Given the description of an element on the screen output the (x, y) to click on. 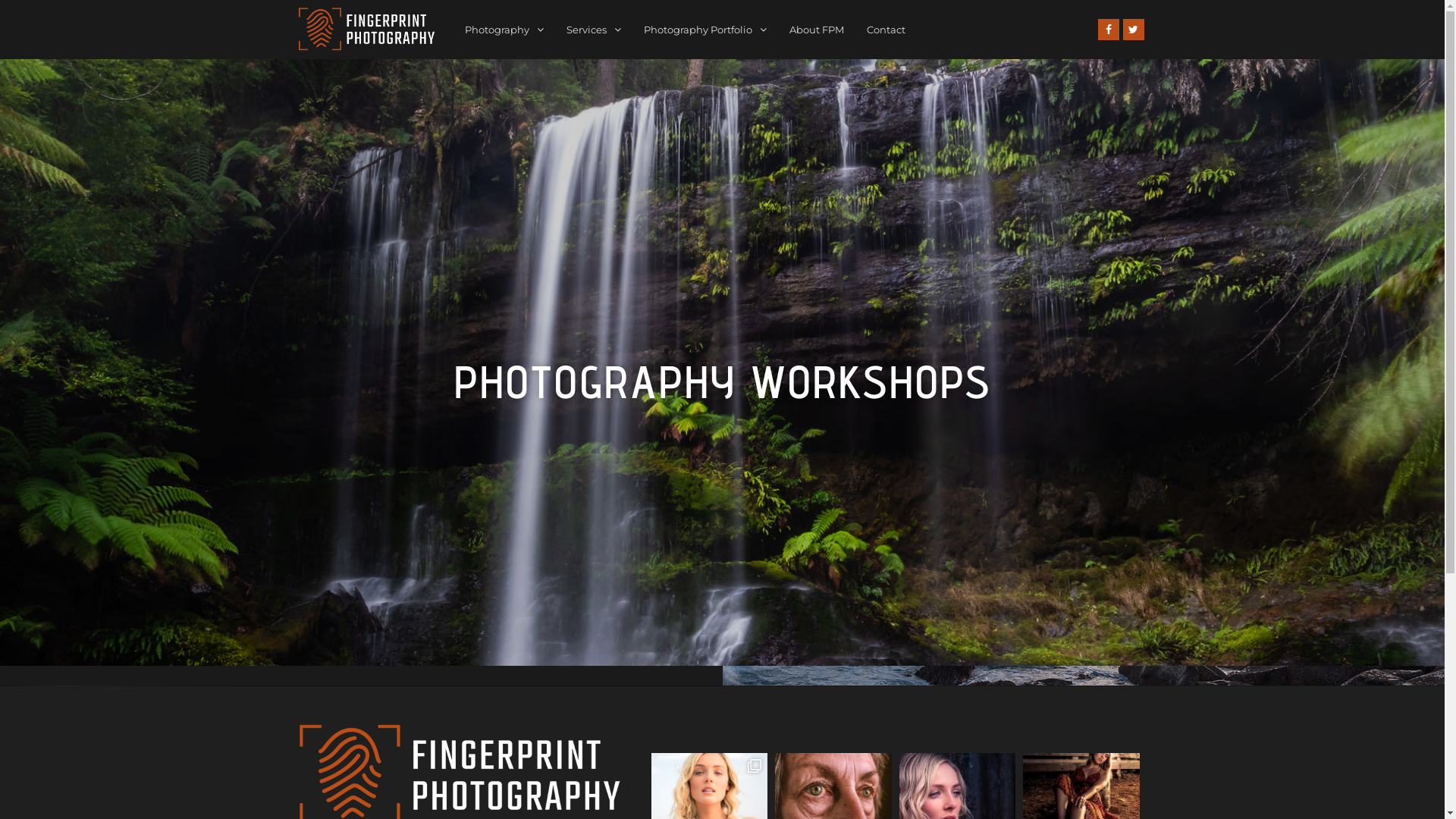
About FPM Element type: text (816, 29)
Contact Element type: text (885, 29)
Photography Element type: text (504, 29)
Facebook Element type: text (1108, 29)
Services Element type: text (593, 29)
Photography Portfolio Element type: text (705, 29)
Twitter Element type: text (1133, 29)
